Given the description of an element on the screen output the (x, y) to click on. 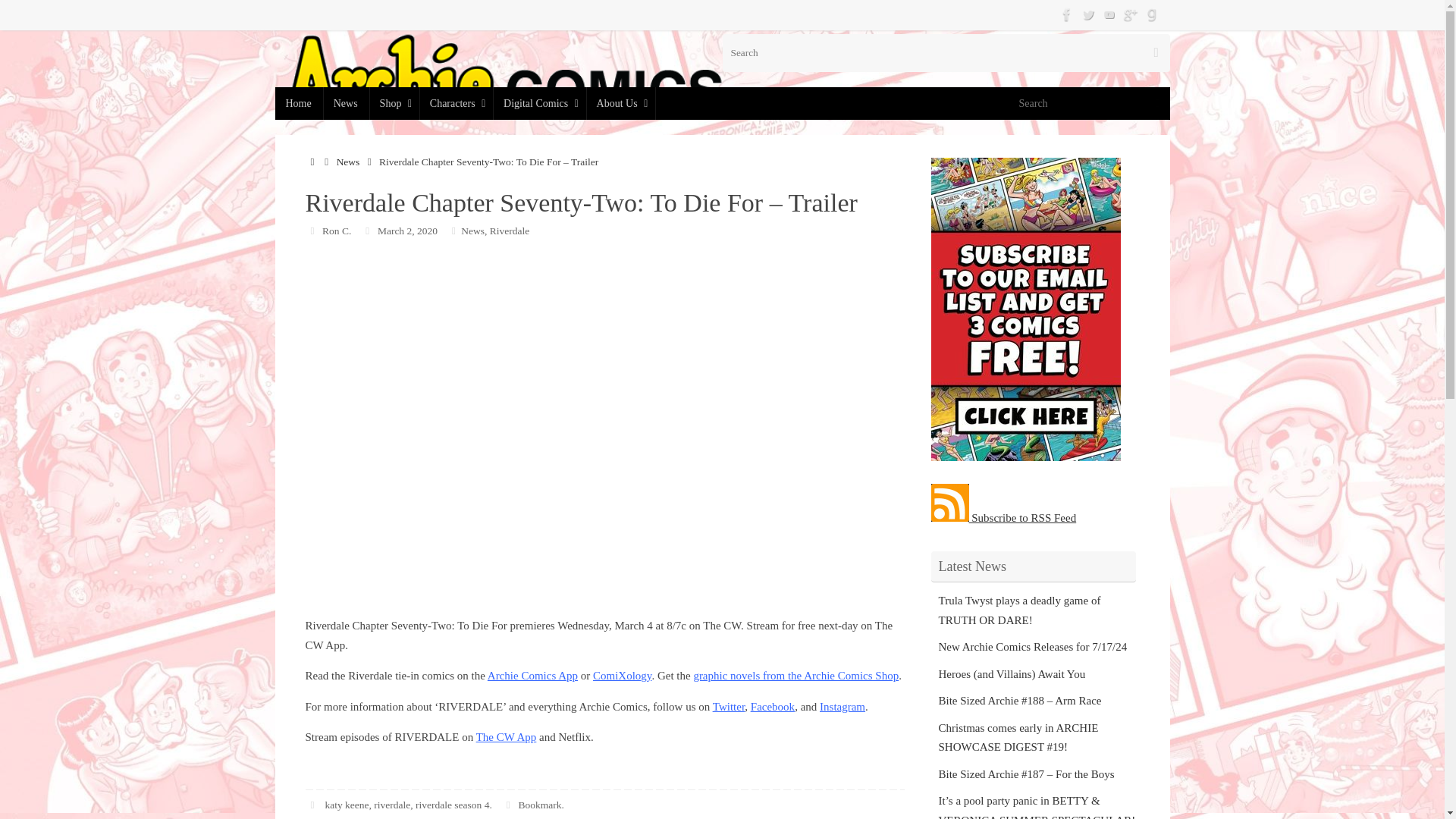
Archie Comics GoodReads (1150, 14)
Home (311, 161)
Digital Comics (539, 102)
News (346, 102)
Home Page (298, 102)
Riverdale (509, 229)
About Us (620, 102)
News Feed (346, 102)
graphic novels from the Archie Comics Shop (795, 675)
katy keene (346, 804)
Character Pages (456, 102)
News (472, 229)
Archie Comics Facebook (1066, 14)
Archie Comics Shop (394, 102)
The CW App (506, 736)
